Given the description of an element on the screen output the (x, y) to click on. 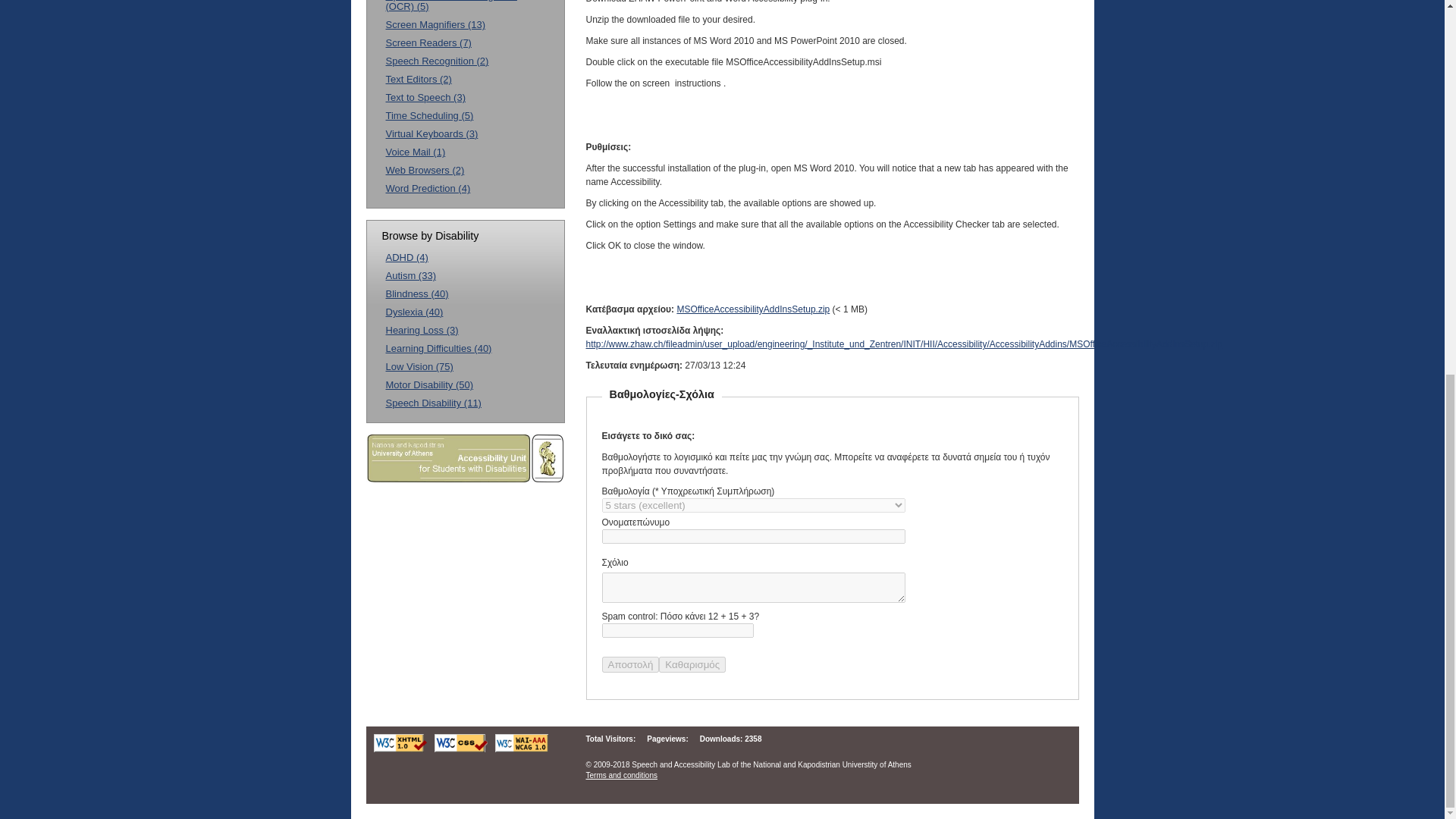
Verify the CSS validity of this page (459, 749)
Explanation of Level Triple-A Conformance (521, 749)
download ZHAW PowerPoint and Word Accessibility (753, 308)
Verify W3C XHTML 1.0 Compliance for this page (399, 749)
submit (630, 664)
clear (692, 664)
